Given the description of an element on the screen output the (x, y) to click on. 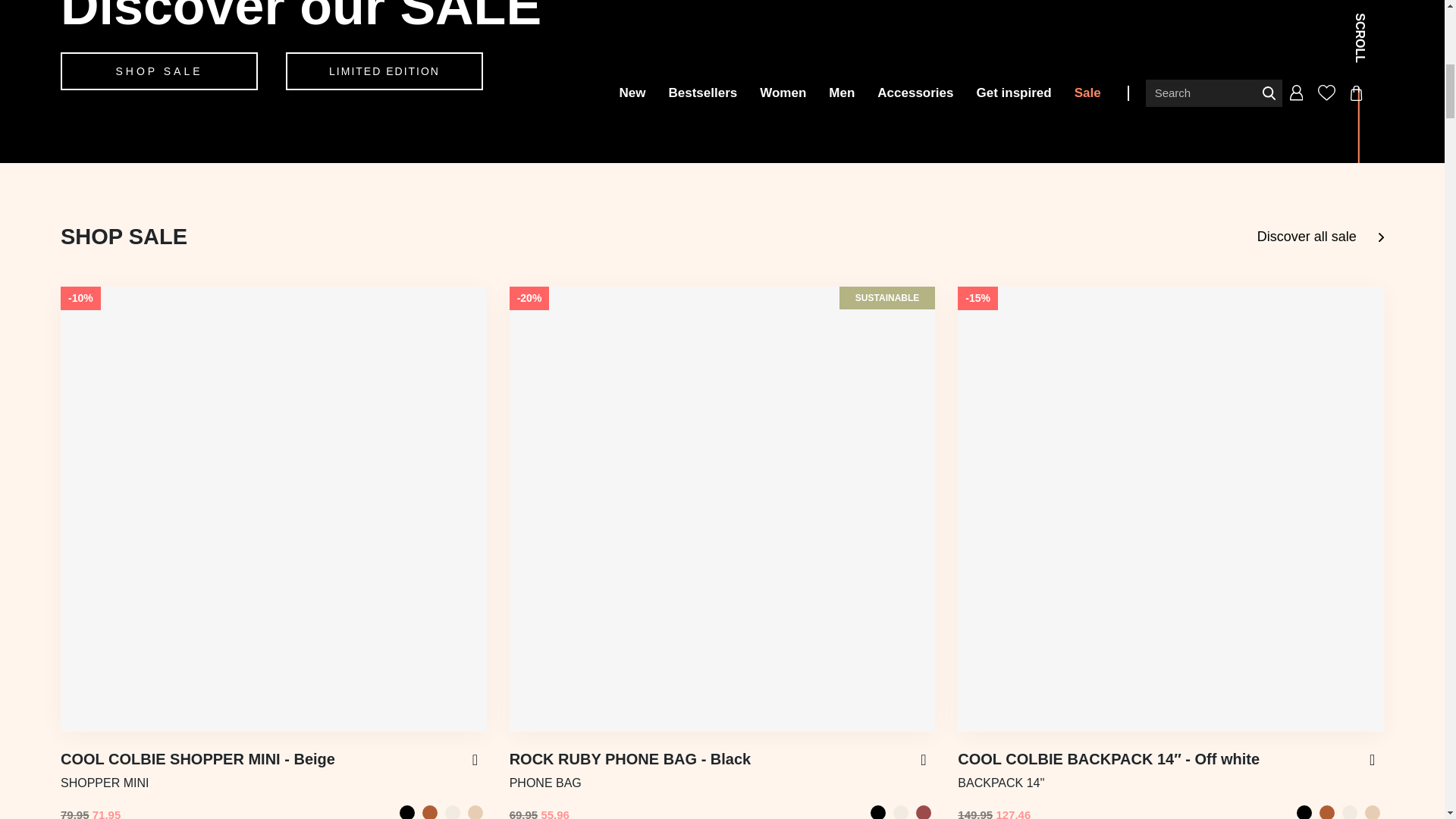
Off white (452, 812)
Black (877, 812)
Black (1304, 812)
Off white (900, 812)
Cognac (430, 812)
Beige (475, 812)
Black (406, 812)
Red (923, 812)
